Given the description of an element on the screen output the (x, y) to click on. 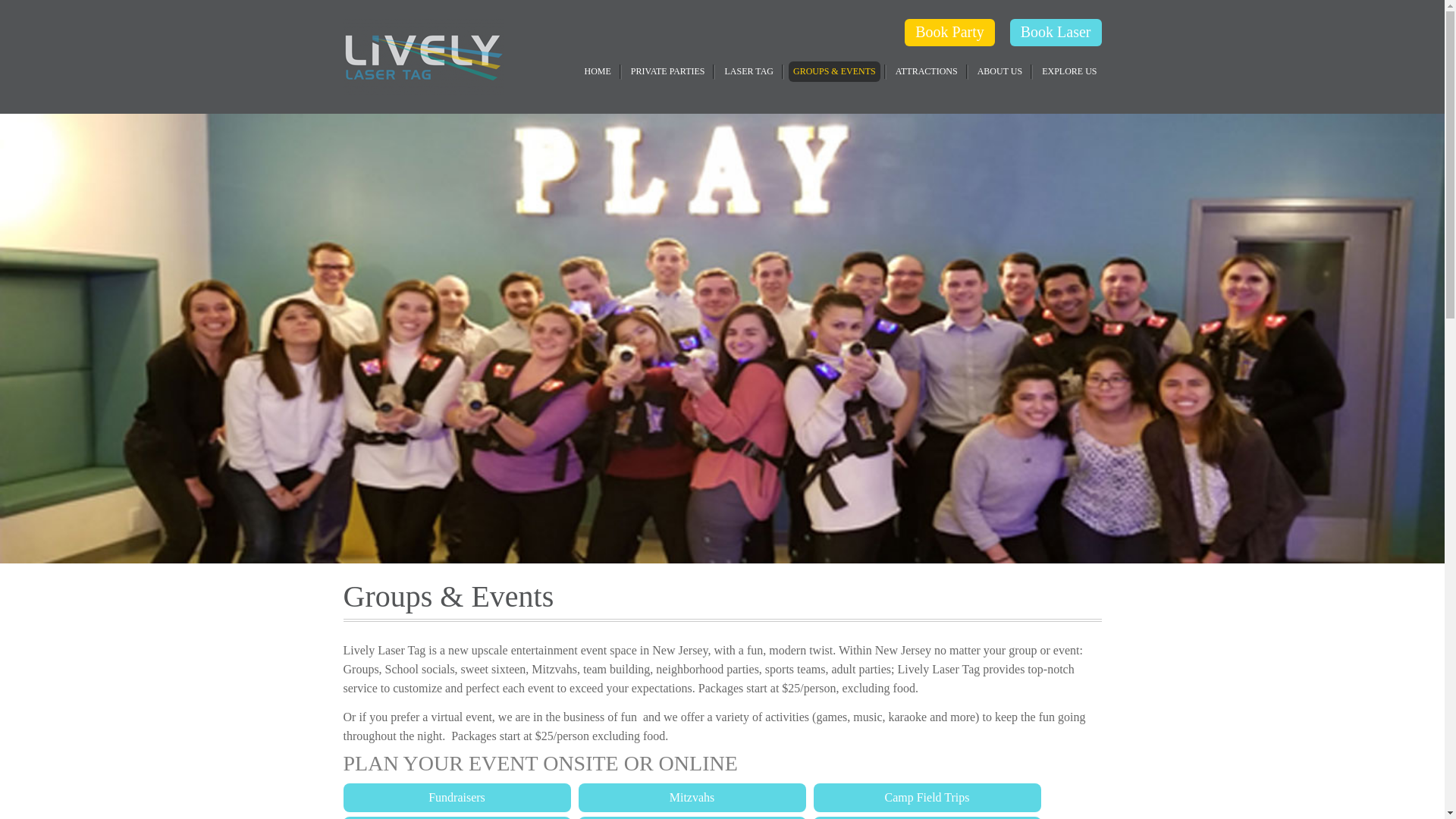
Book Party (949, 31)
ABOUT US (999, 71)
PRIVATE PARTIES (668, 71)
HOME (596, 71)
EXPLORE US (1068, 71)
Book Laser (1056, 31)
LASER TAG (748, 71)
ATTRACTIONS (926, 71)
